Given the description of an element on the screen output the (x, y) to click on. 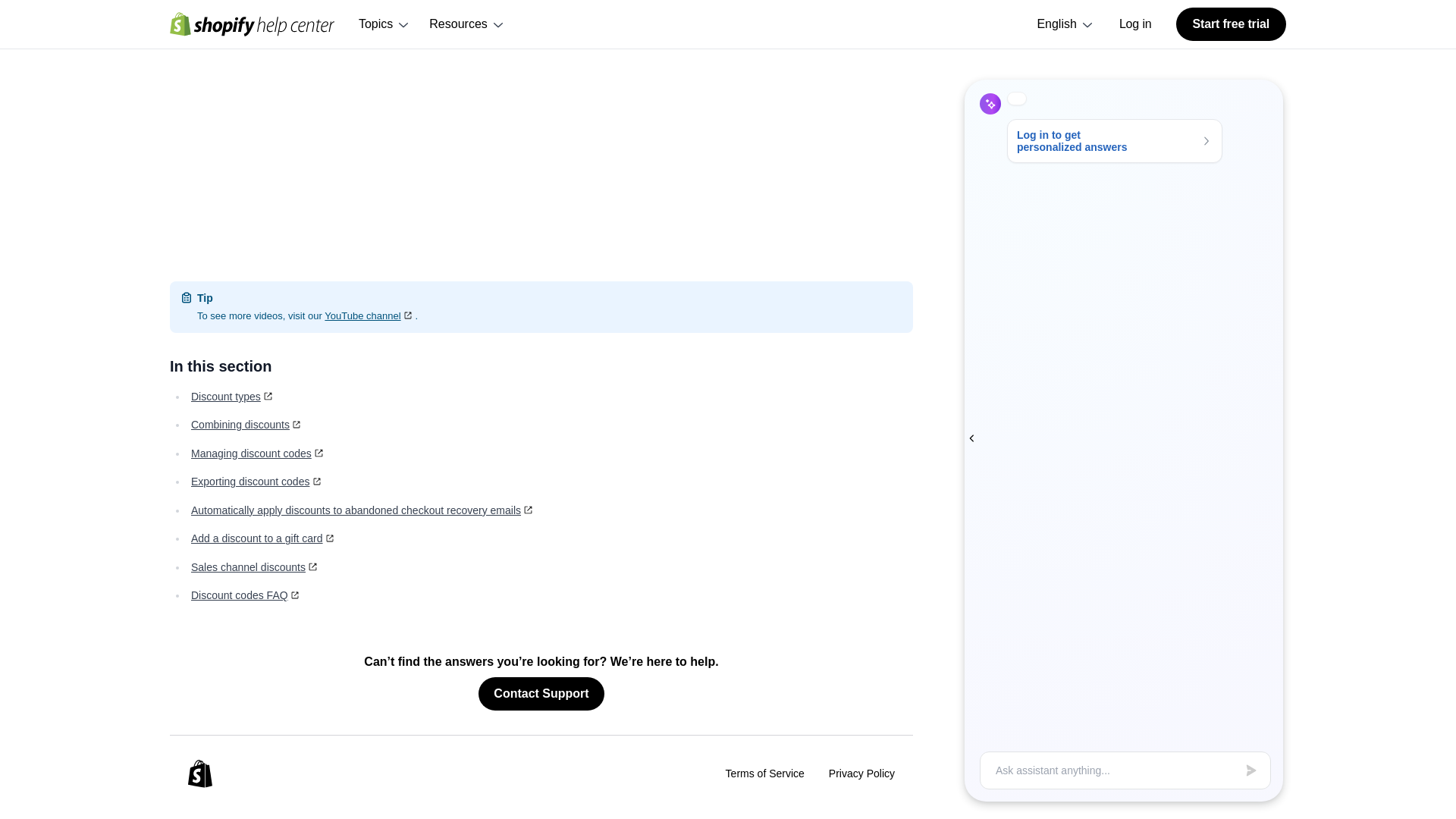
Exporting discount codes (256, 481)
Privacy Policy (861, 772)
Contact Support (541, 693)
Discount codes FAQ (245, 594)
Combining discounts (247, 424)
Discount types (232, 396)
Add a discount to a gift card (263, 538)
Terms of Service (765, 772)
Sales channel discounts (255, 567)
Log in to get personalized answers (1125, 81)
YouTube channel (369, 315)
Managing discount codes (258, 453)
